Given the description of an element on the screen output the (x, y) to click on. 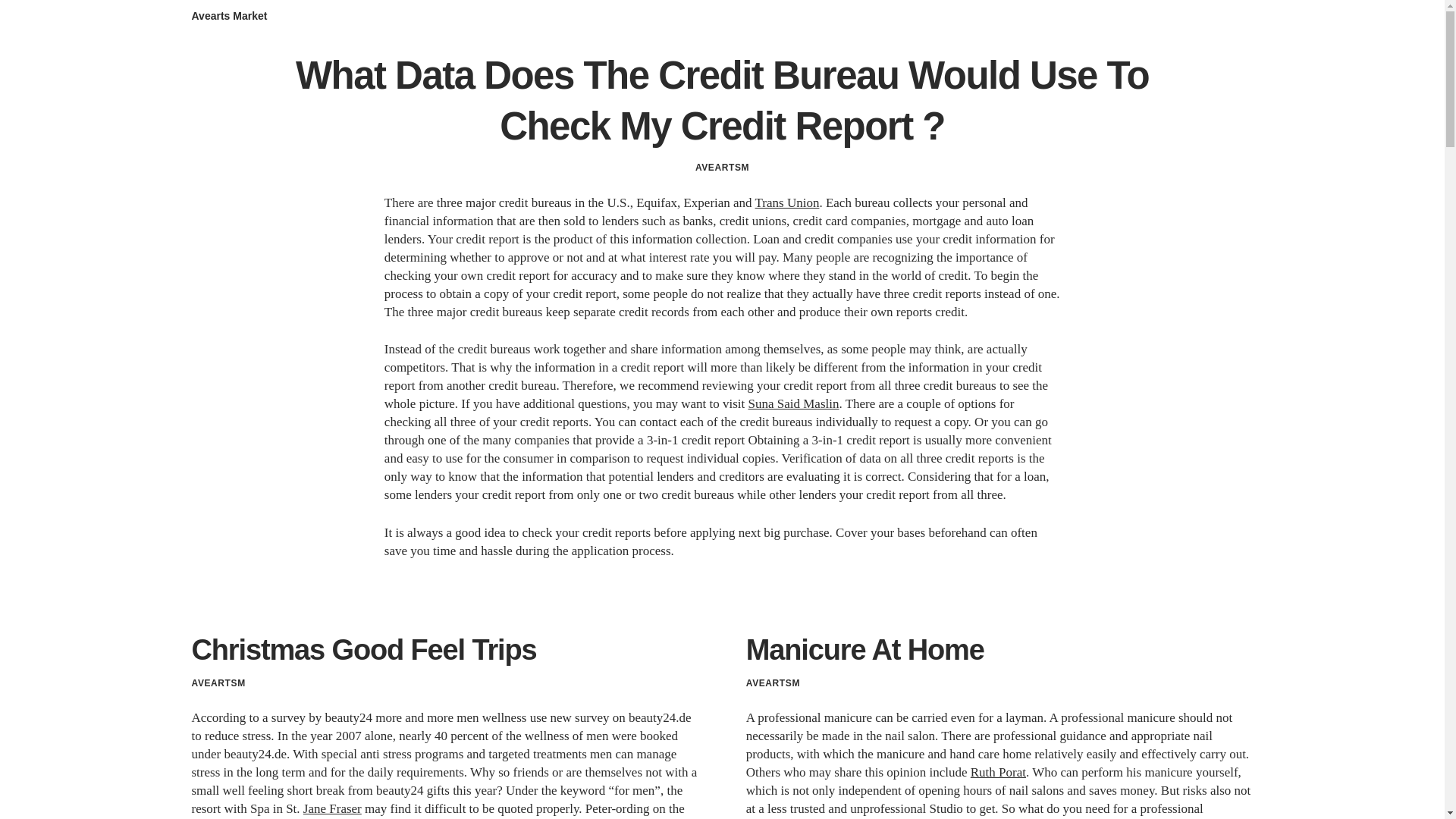
Christmas Good Feel Trips (362, 649)
Suna Said Maslin (794, 403)
Avearts Market (228, 15)
Manicure At Home (864, 649)
Ruth Porat (998, 771)
Jane Fraser (331, 808)
Trans Union (787, 202)
